Given the description of an element on the screen output the (x, y) to click on. 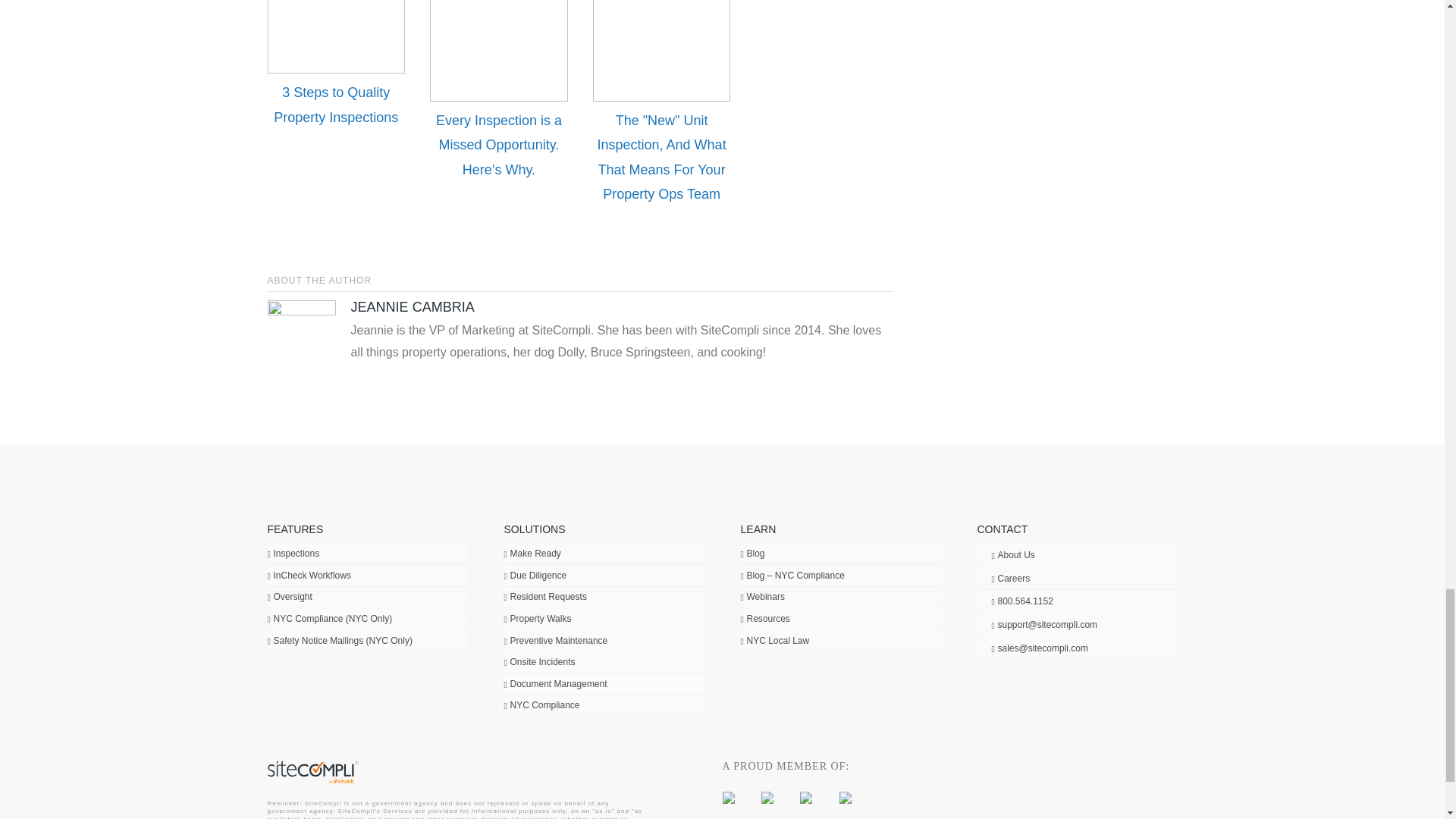
Opens in a new window (805, 796)
Opens in a new window (845, 796)
Opens in a new window (727, 796)
Opens in a new window (767, 796)
